Given the description of an element on the screen output the (x, y) to click on. 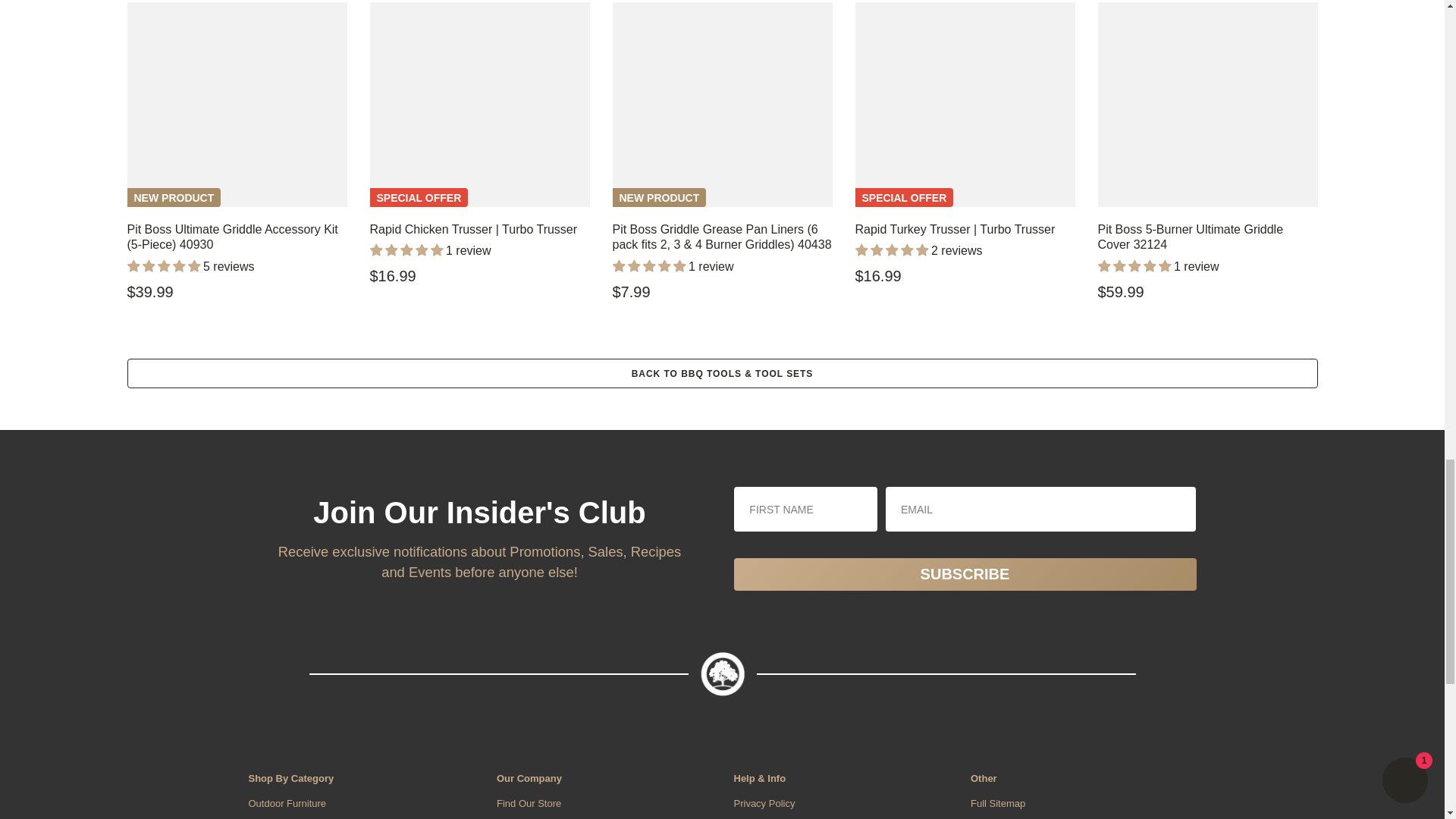
Subscribe (964, 573)
